Given the description of an element on the screen output the (x, y) to click on. 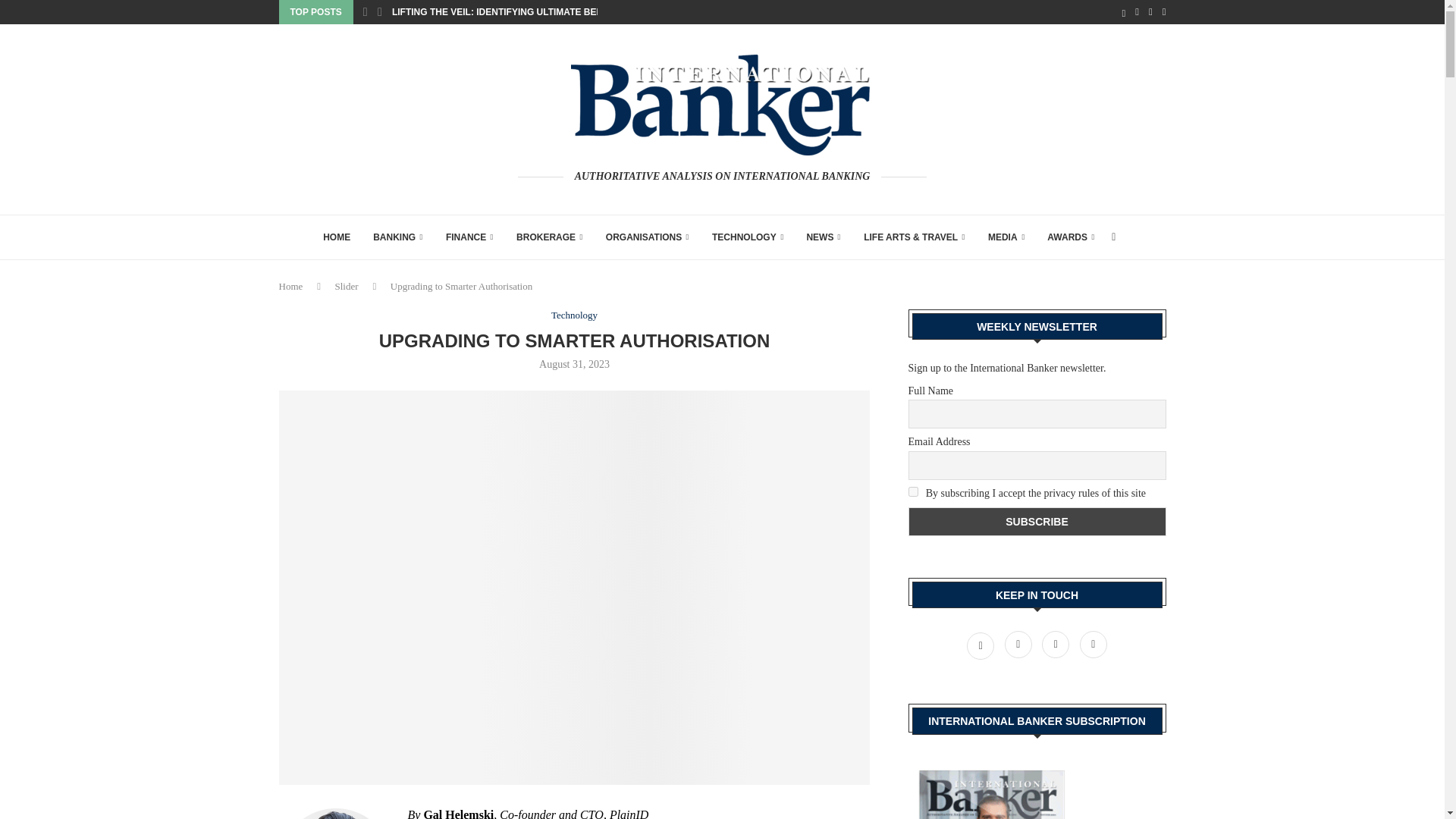
AWARDS (1070, 237)
ORGANISATIONS (646, 237)
FINANCE (469, 237)
BANKING (397, 237)
BROKERAGE (549, 237)
LIFTING THE VEIL: IDENTIFYING ULTIMATE BENEFICIAL OWNERS (536, 12)
on (913, 491)
Home (290, 285)
Slider (346, 285)
TECHNOLOGY (747, 237)
Technology (573, 315)
Subscribe (1037, 521)
